Given the description of an element on the screen output the (x, y) to click on. 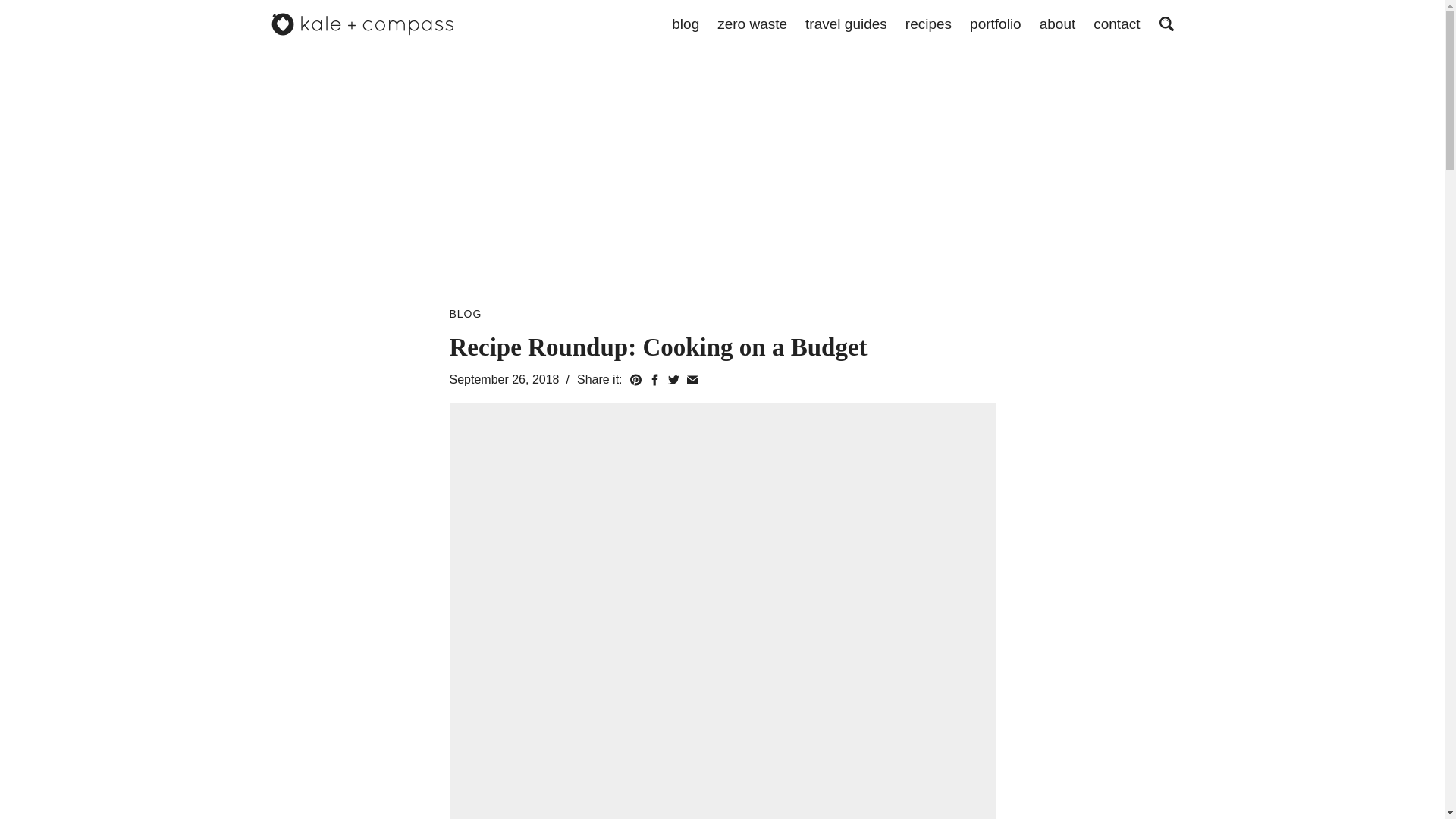
About (1057, 23)
Portfolio (995, 23)
Zero Waste (752, 23)
blog (684, 23)
zero waste (752, 23)
contact (1116, 23)
recipes (928, 23)
portfolio (995, 23)
Site Search (1165, 23)
about (1057, 23)
BLOG (464, 313)
Contact (1116, 23)
travel guides (845, 23)
Recipes (928, 23)
Blog (684, 23)
